Given the description of an element on the screen output the (x, y) to click on. 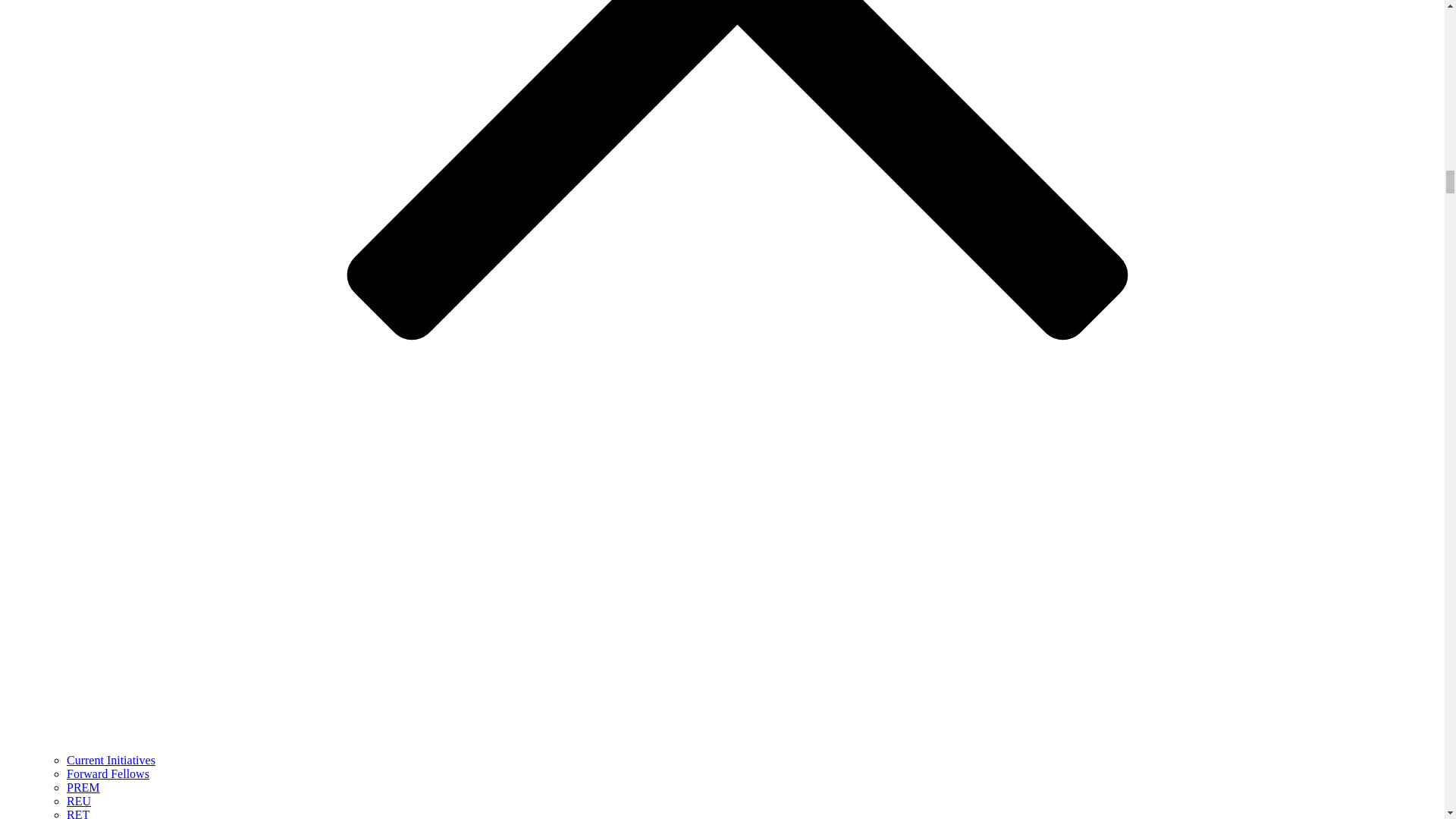
RET (77, 813)
PREM (83, 787)
Current Initiatives (110, 759)
Forward Fellows (107, 773)
REU (78, 800)
